Given the description of an element on the screen output the (x, y) to click on. 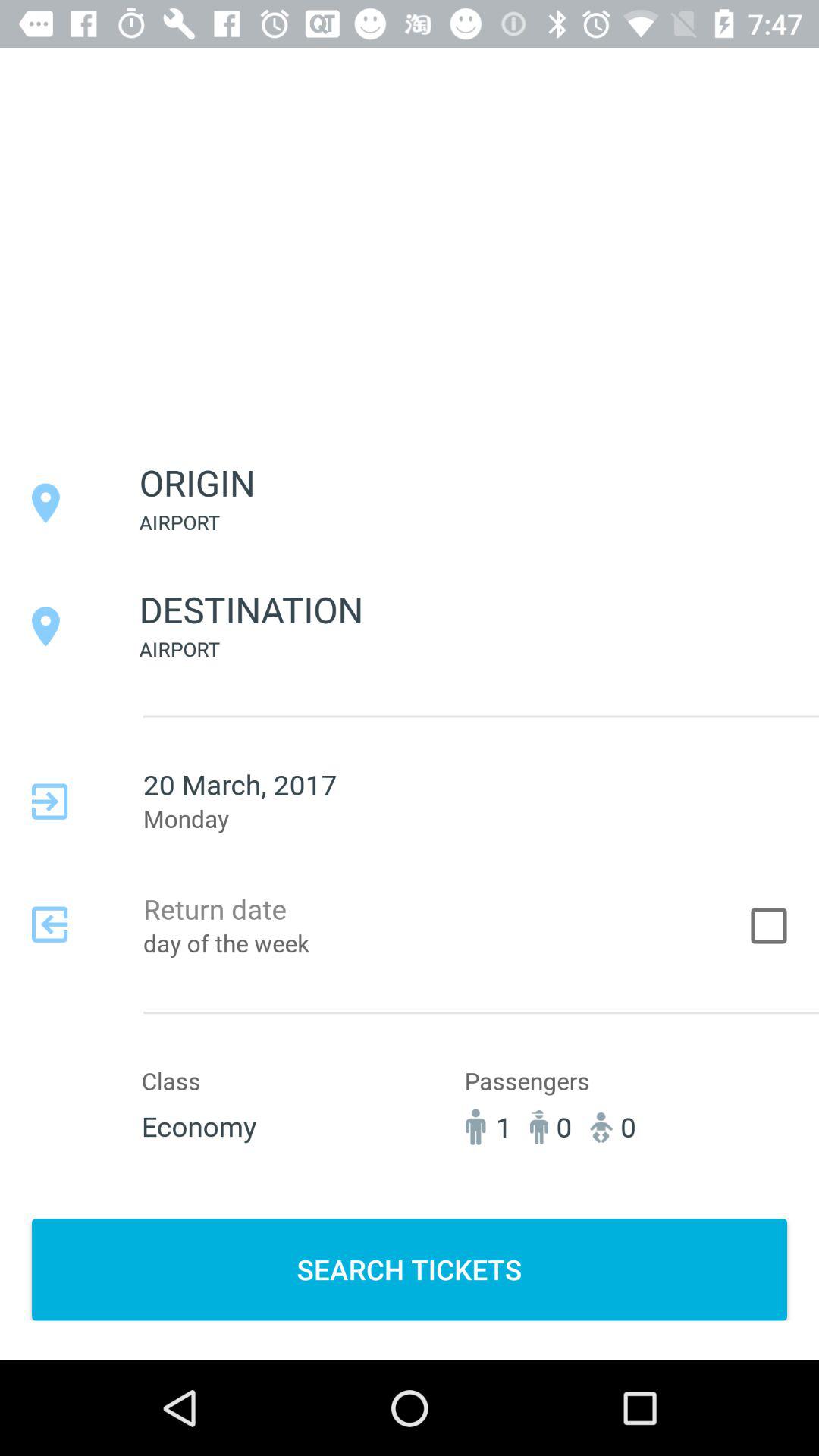
launch search tickets button (409, 1269)
